Given the description of an element on the screen output the (x, y) to click on. 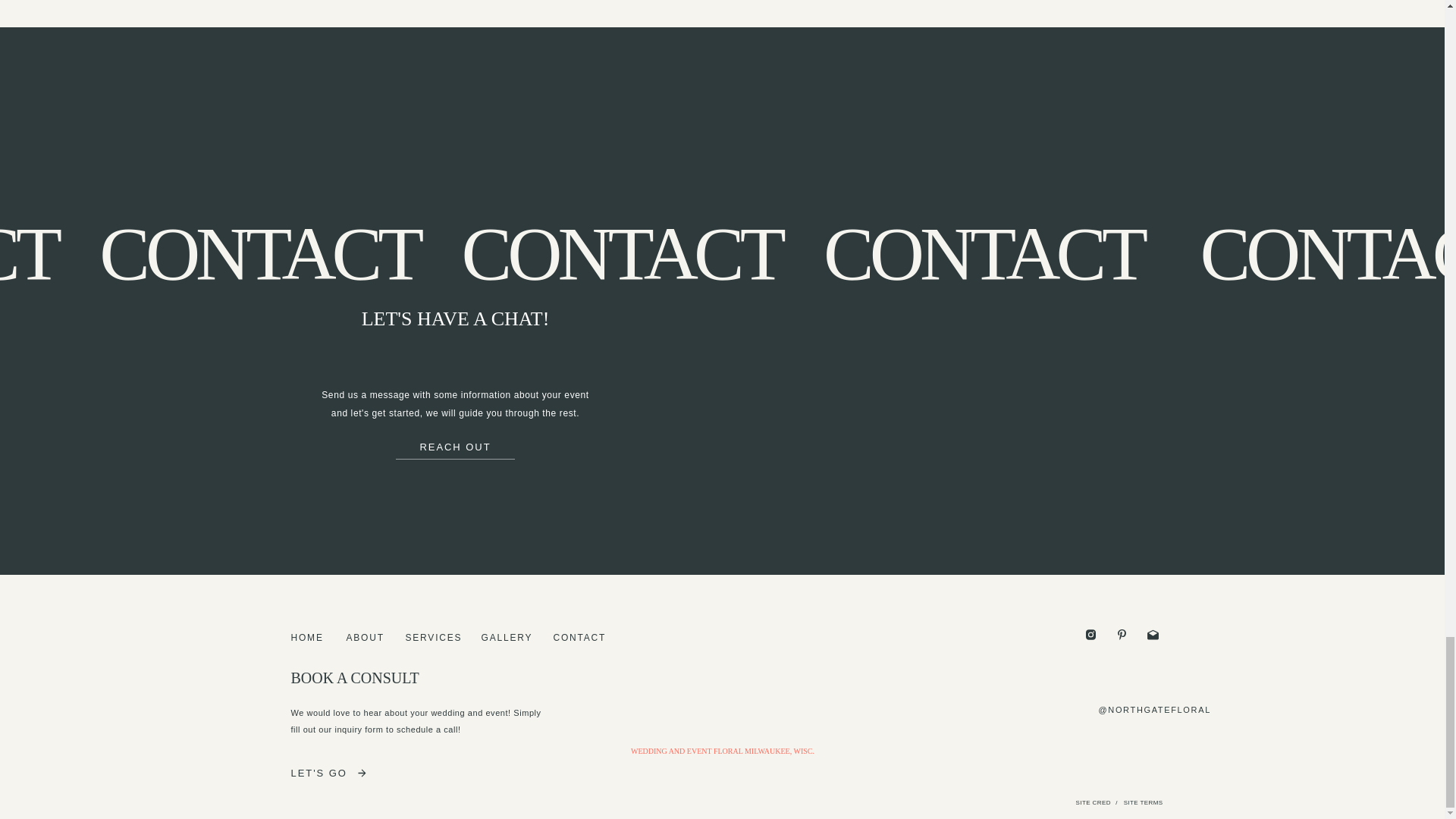
GALLERY (503, 636)
HOME (306, 636)
SITE CRED  (1083, 803)
LET'S GO (321, 770)
CONTACT (582, 636)
SERVICES (430, 636)
ABOUT (363, 636)
REACH OUT (454, 444)
